Given the description of an element on the screen output the (x, y) to click on. 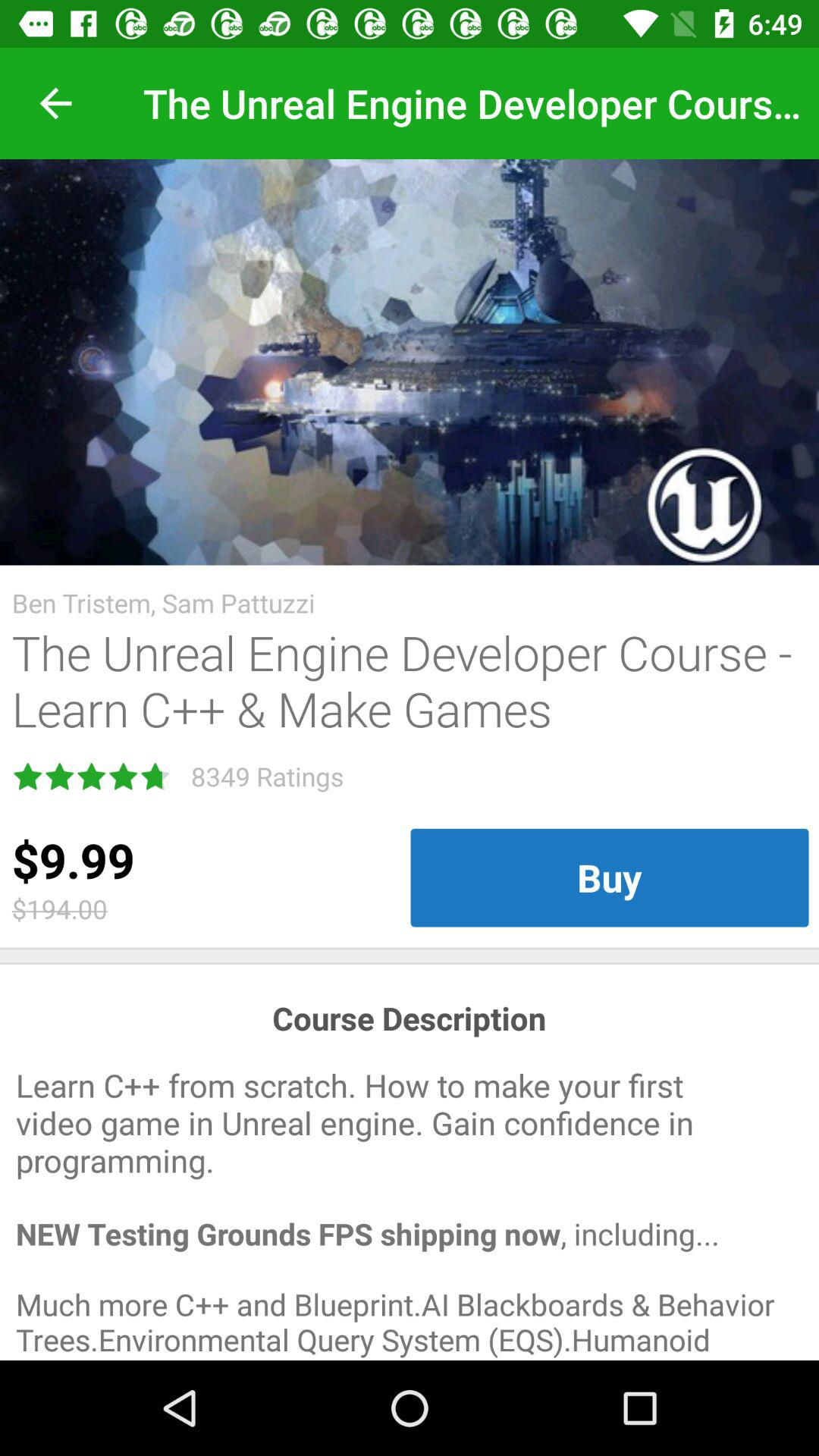
click icon below the unreal engine item (609, 877)
